Given the description of an element on the screen output the (x, y) to click on. 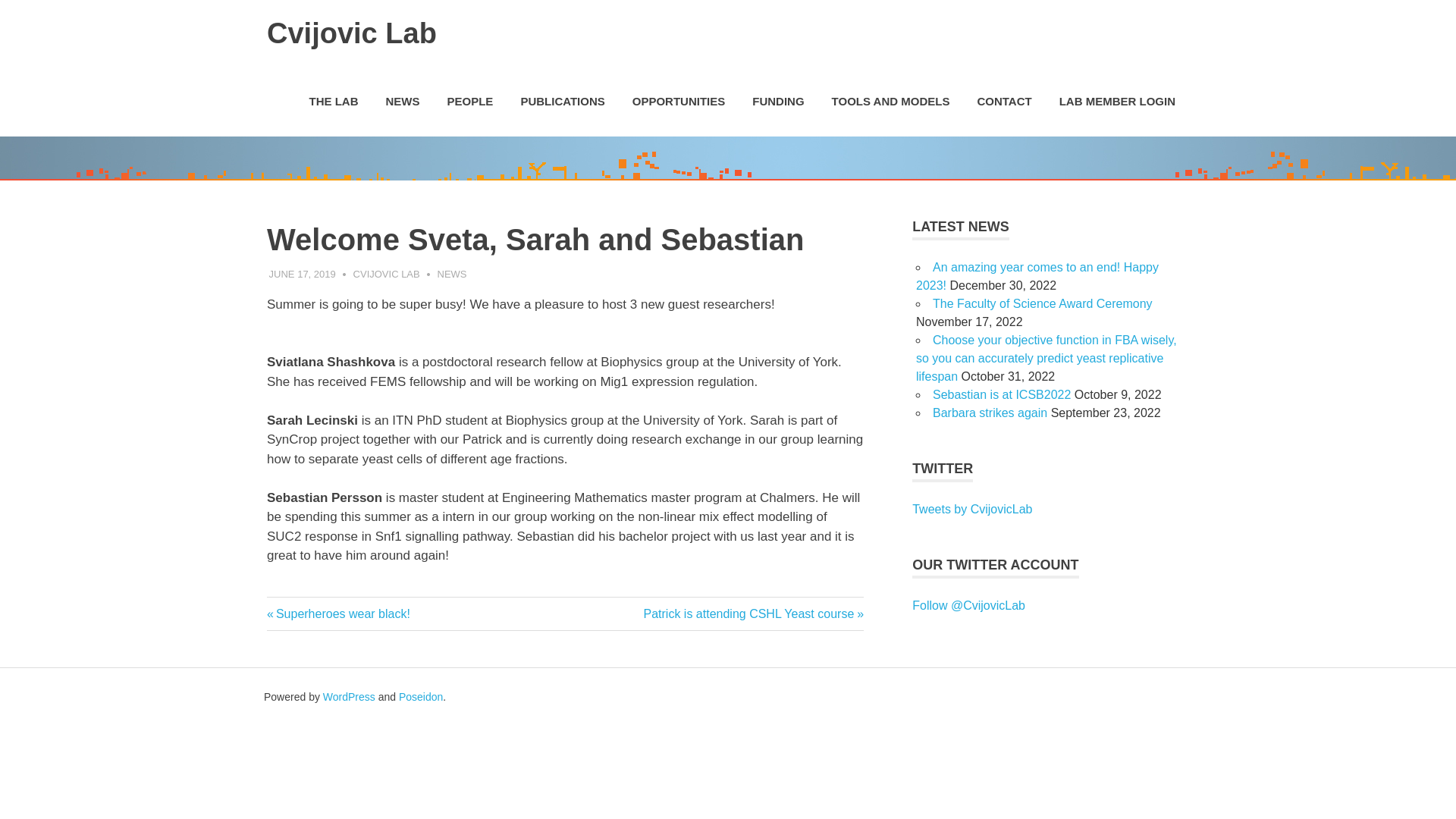
Tweets by CvijovicLab (972, 508)
Poseidon WordPress Theme (420, 696)
Poseidon (420, 696)
PUBLICATIONS (561, 101)
NEWS (452, 274)
TOOLS AND MODELS (890, 101)
9:31 am (302, 274)
CONTACT (338, 613)
Sebastian is at ICSB2022 (1003, 101)
